Given the description of an element on the screen output the (x, y) to click on. 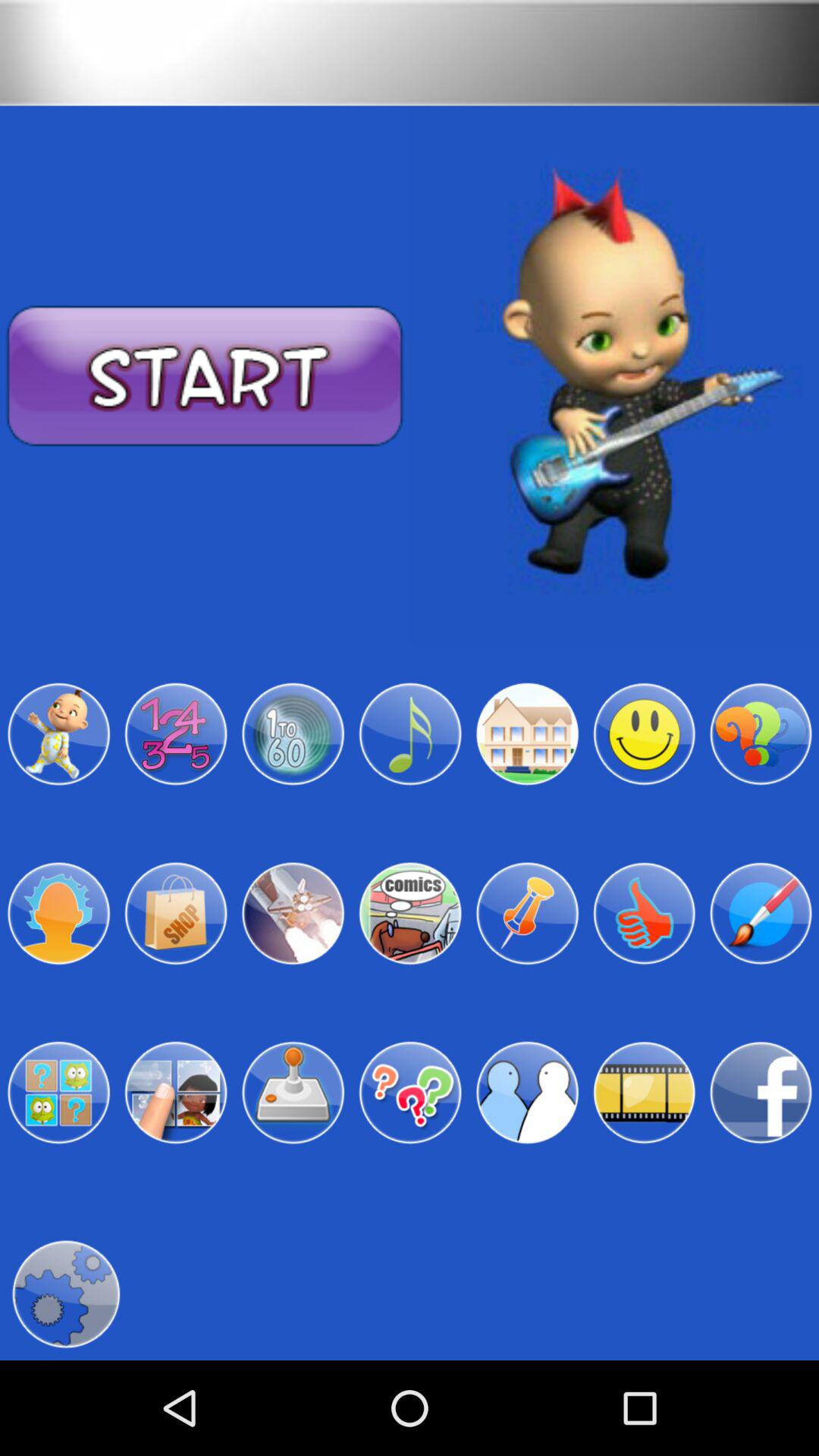
choose profile (526, 1092)
